Given the description of an element on the screen output the (x, y) to click on. 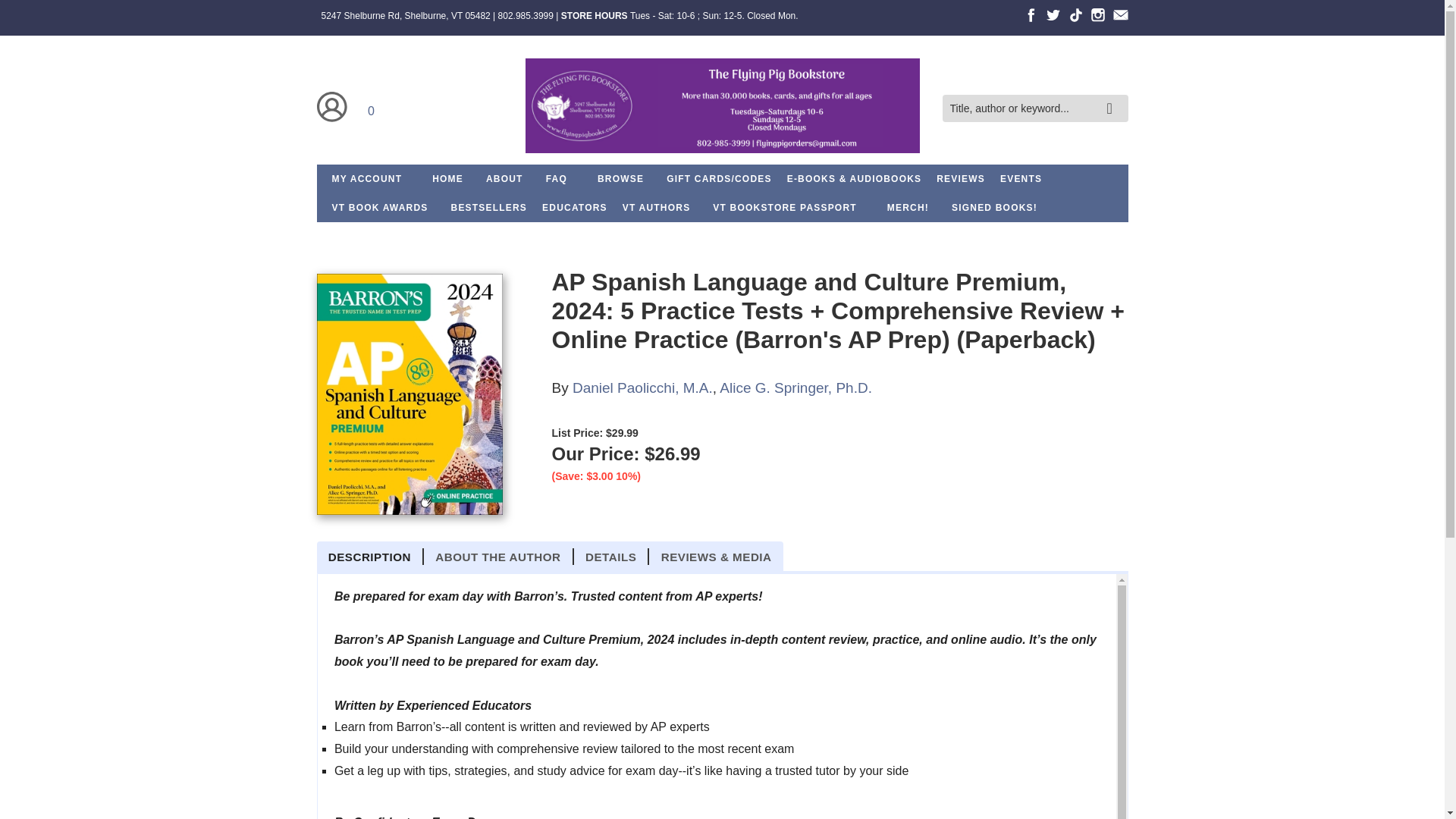
search (1112, 96)
search (1112, 96)
Bestsellers are the store! (489, 207)
VT BOOK AWARDS (380, 207)
ABOUT (505, 178)
Home (721, 107)
Title, author or keyword... (1034, 108)
Gift Cards and Online Gift Code (718, 178)
Frequently Asked Questions (556, 178)
REVIEWS (960, 178)
EVENTS (1020, 178)
BESTSELLERS (489, 207)
MY ACCOUNT (367, 178)
